Given the description of an element on the screen output the (x, y) to click on. 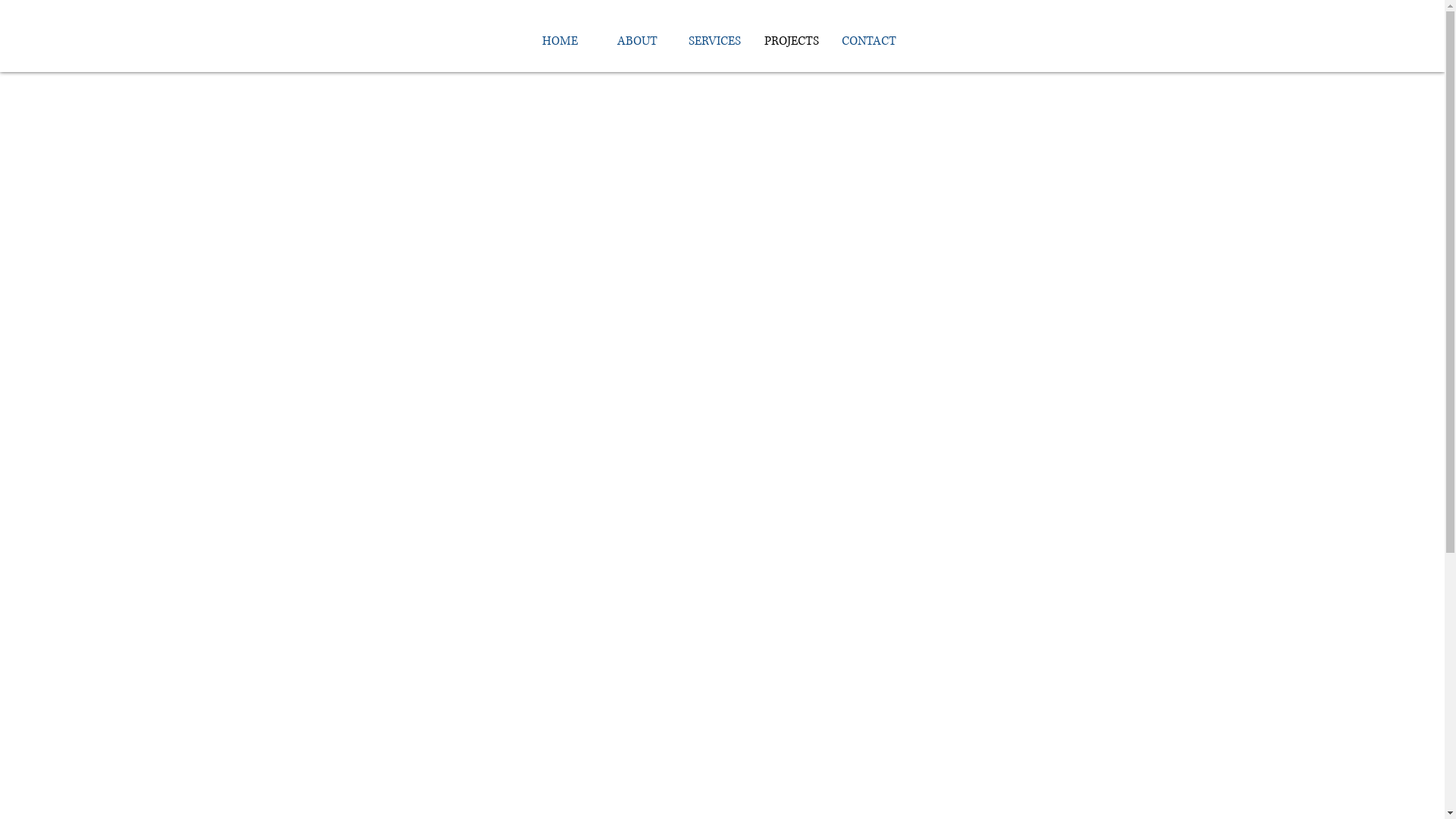
HOME Element type: text (559, 40)
PROJECTS Element type: text (791, 40)
SERVICES Element type: text (714, 40)
ABOUT Element type: text (636, 40)
CONTACT Element type: text (868, 40)
